Given the description of an element on the screen output the (x, y) to click on. 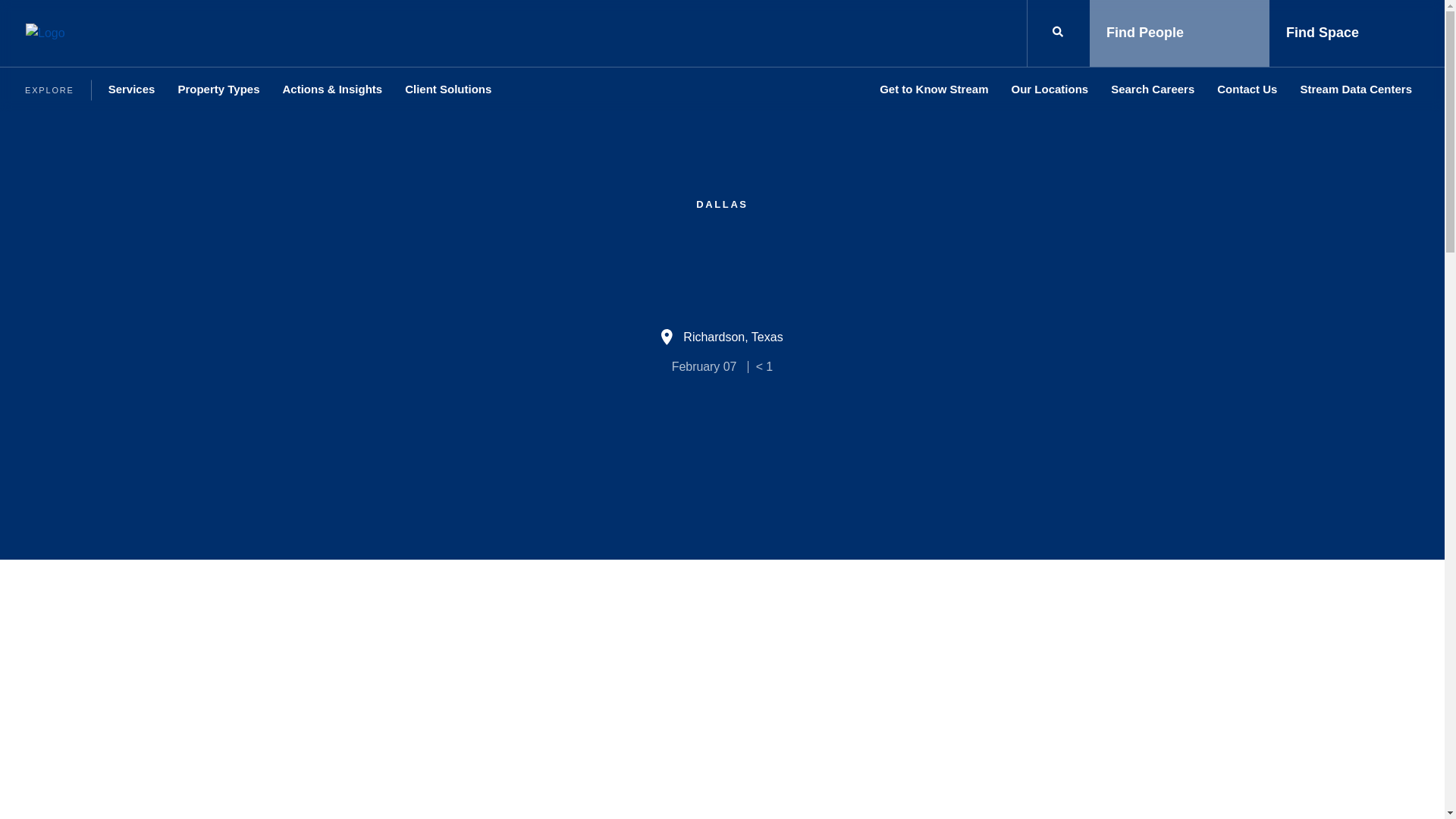
Services (132, 89)
Find People (1179, 33)
Property Types (217, 89)
